Given the description of an element on the screen output the (x, y) to click on. 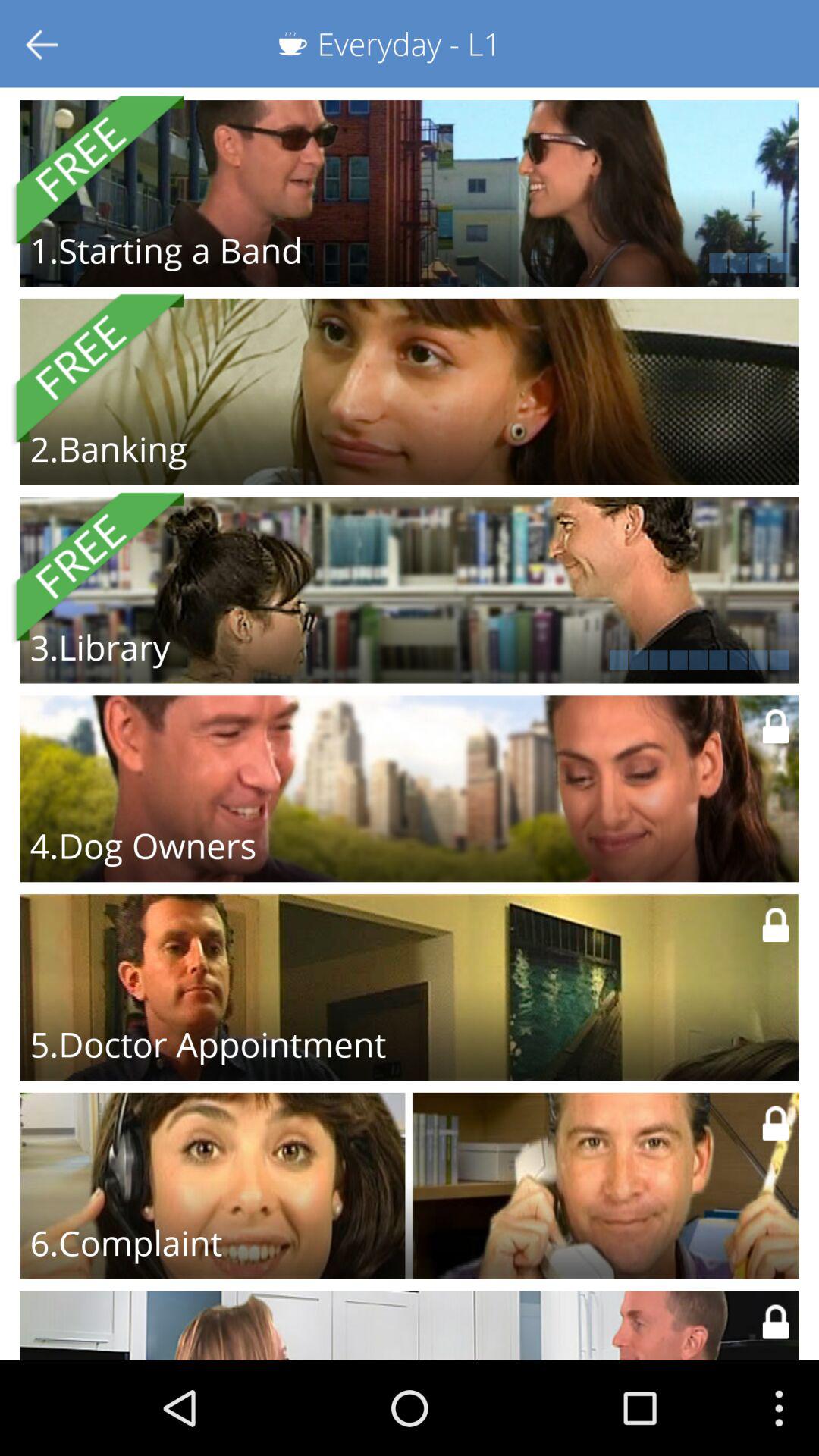
scroll to the 1 starting a icon (166, 250)
